Given the description of an element on the screen output the (x, y) to click on. 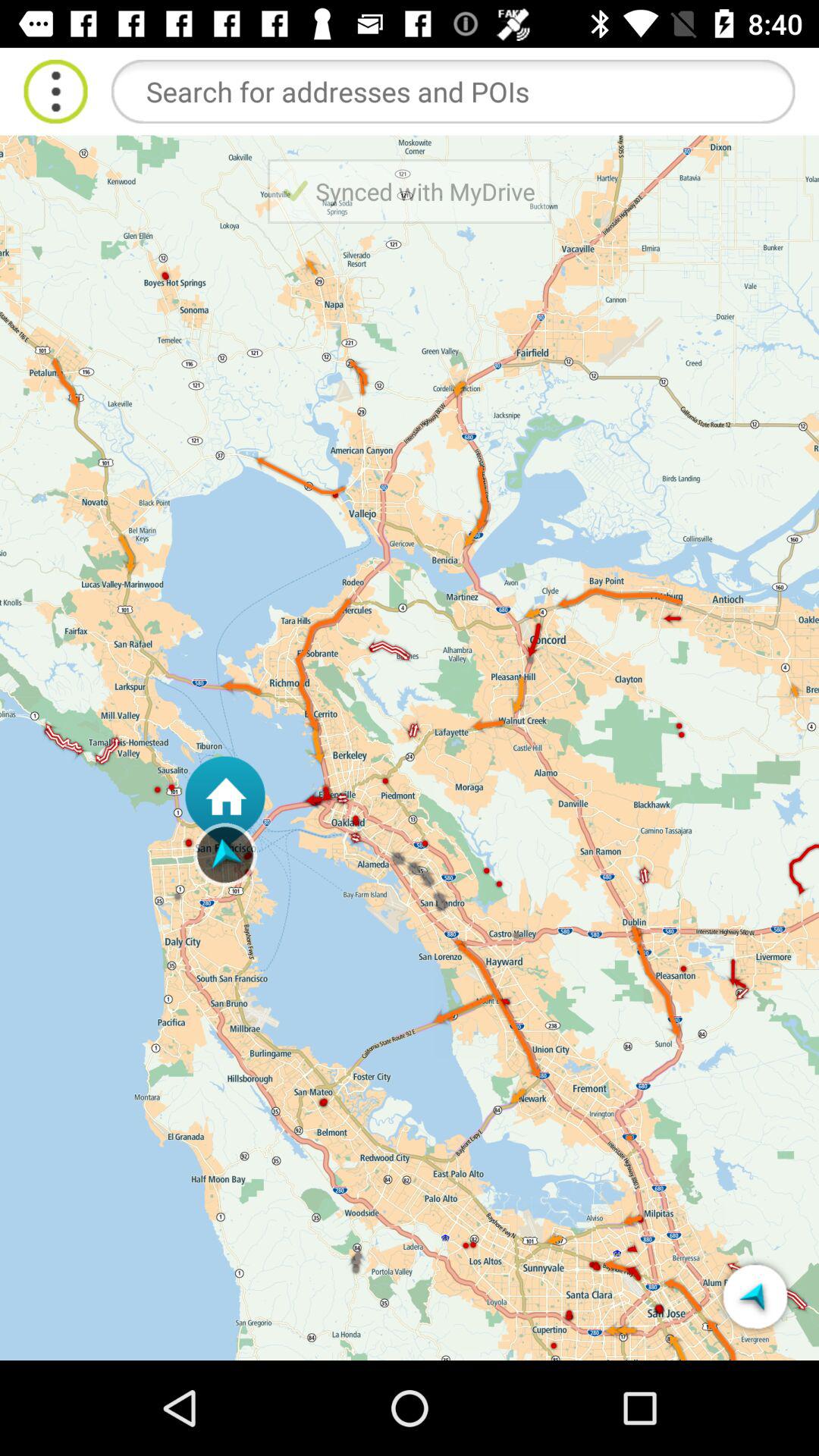
go to search (453, 91)
